Given the description of an element on the screen output the (x, y) to click on. 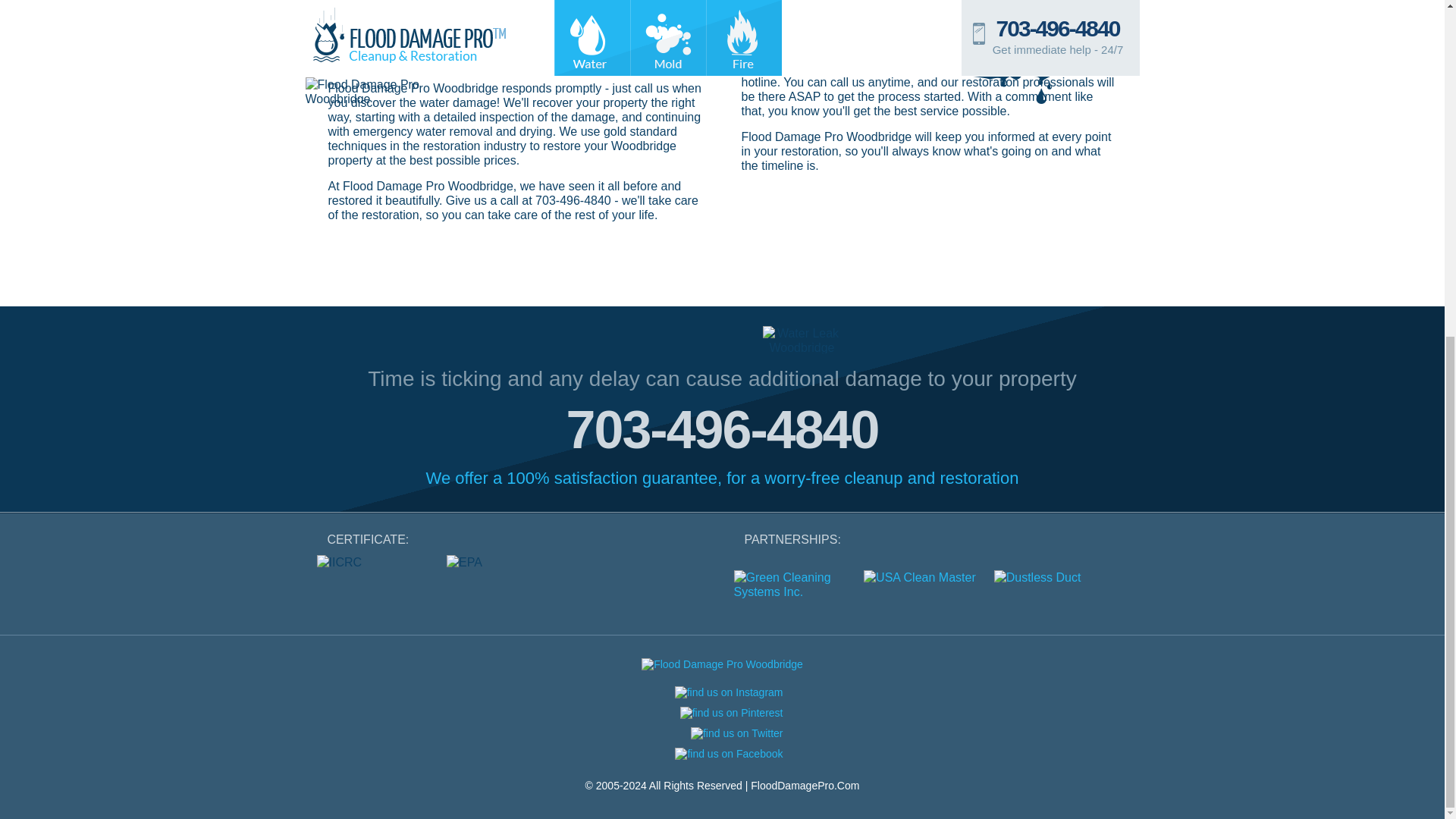
FloodDamagePro.Com (805, 785)
703-496-4840 (722, 429)
